Given the description of an element on the screen output the (x, y) to click on. 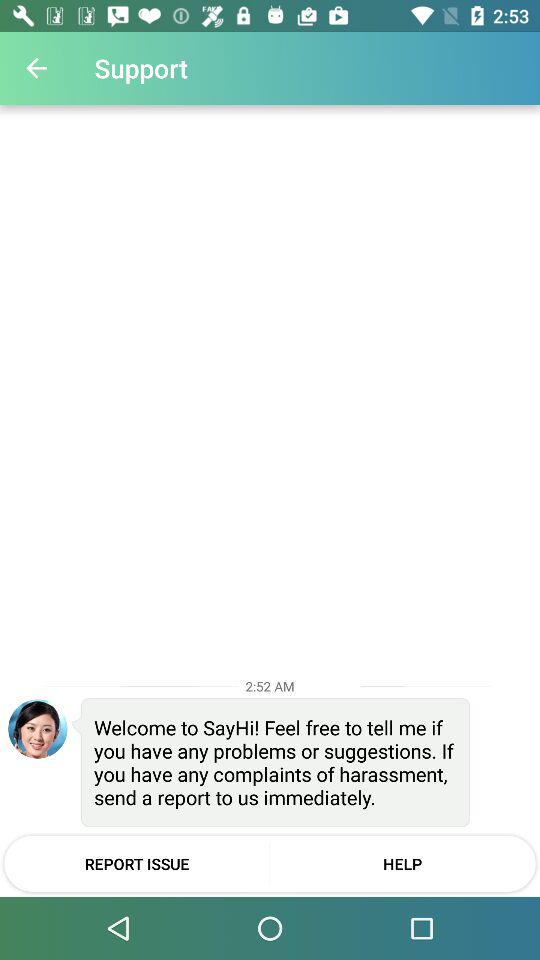
jump to help item (402, 863)
